Given the description of an element on the screen output the (x, y) to click on. 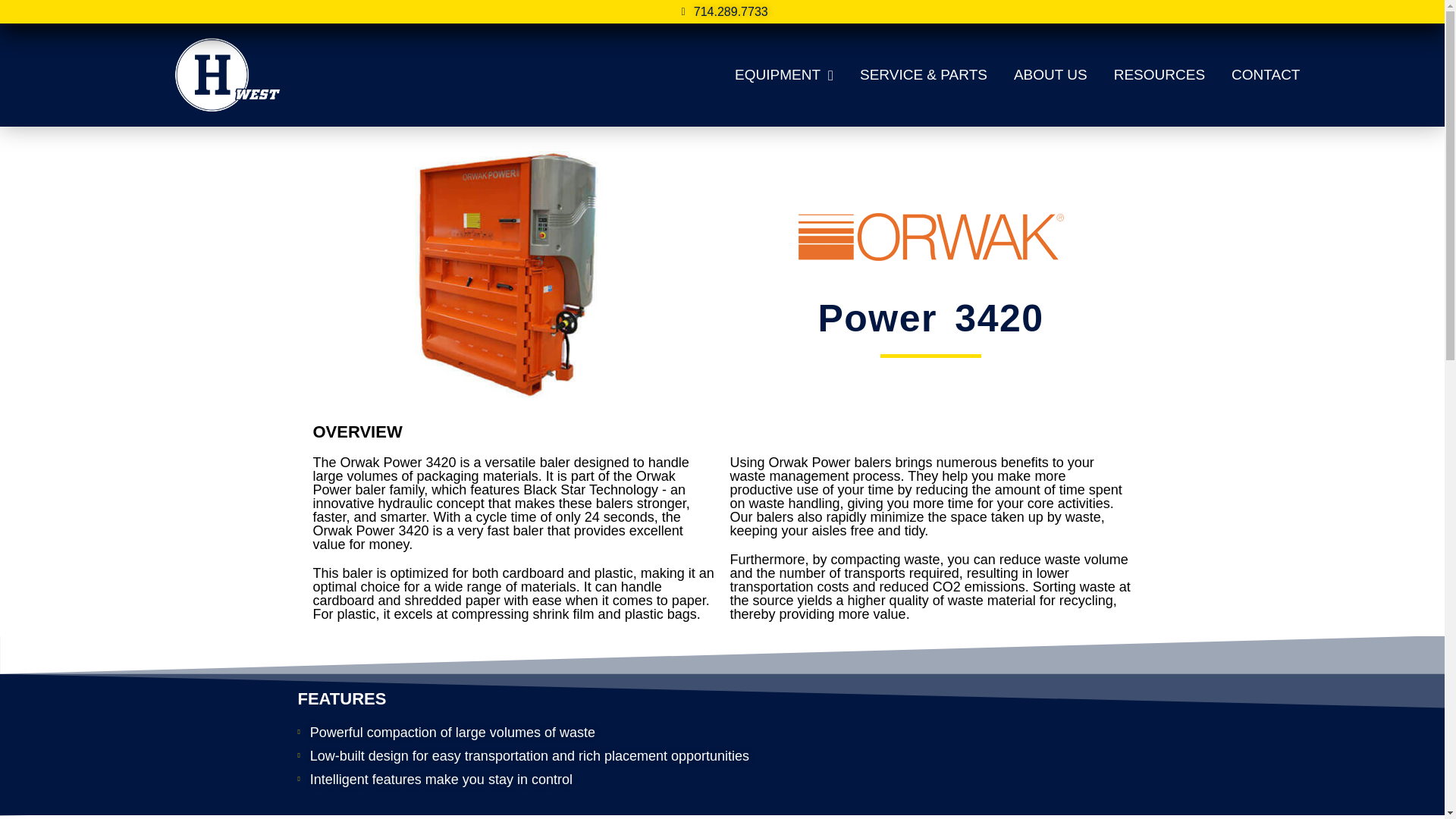
RESOURCES (1159, 74)
CONTACT (1265, 74)
ABOUT US (1050, 74)
EQUIPMENT (783, 74)
714.289.7733 (722, 11)
